Given the description of an element on the screen output the (x, y) to click on. 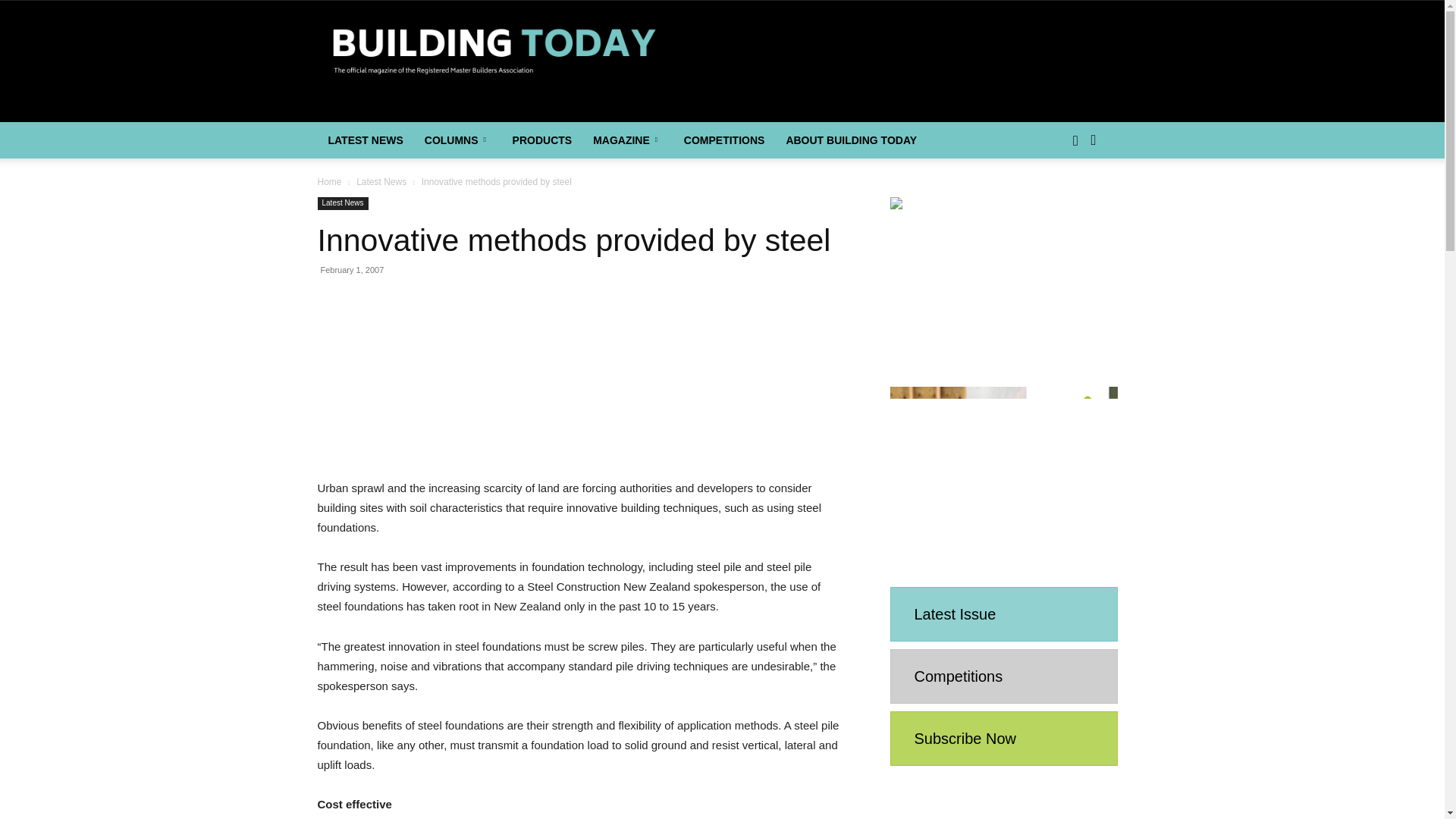
COLUMNS (457, 140)
View all posts in Latest News (381, 181)
LATEST NEWS (365, 140)
